Given the description of an element on the screen output the (x, y) to click on. 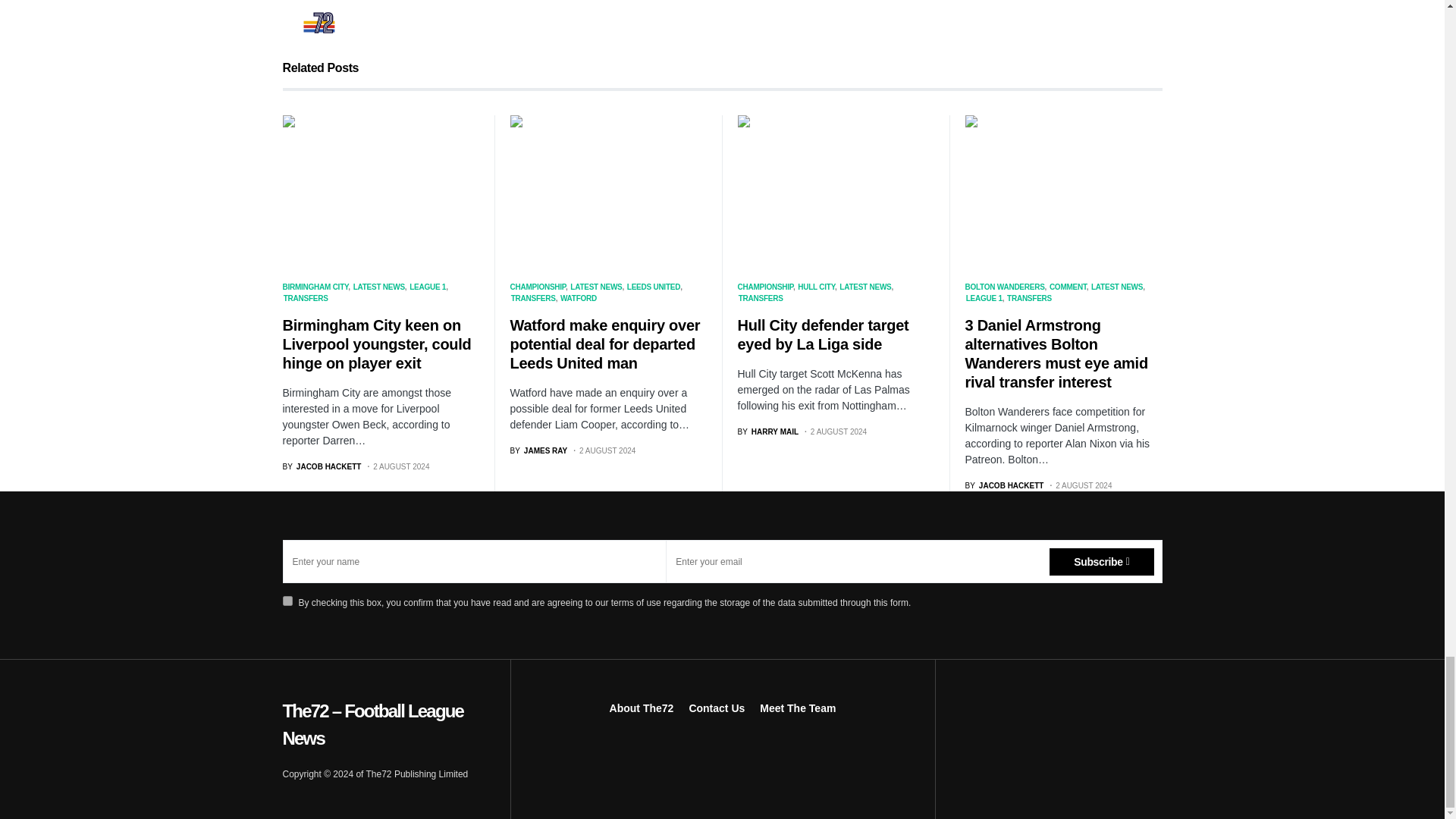
View all posts by Harry Mail (766, 431)
View all posts by Jacob Hackett (321, 466)
on (287, 601)
View all posts by James Ray (538, 450)
View all posts by Jacob Hackett (1003, 485)
View all posts by Harry Mail (703, 6)
